Given the description of an element on the screen output the (x, y) to click on. 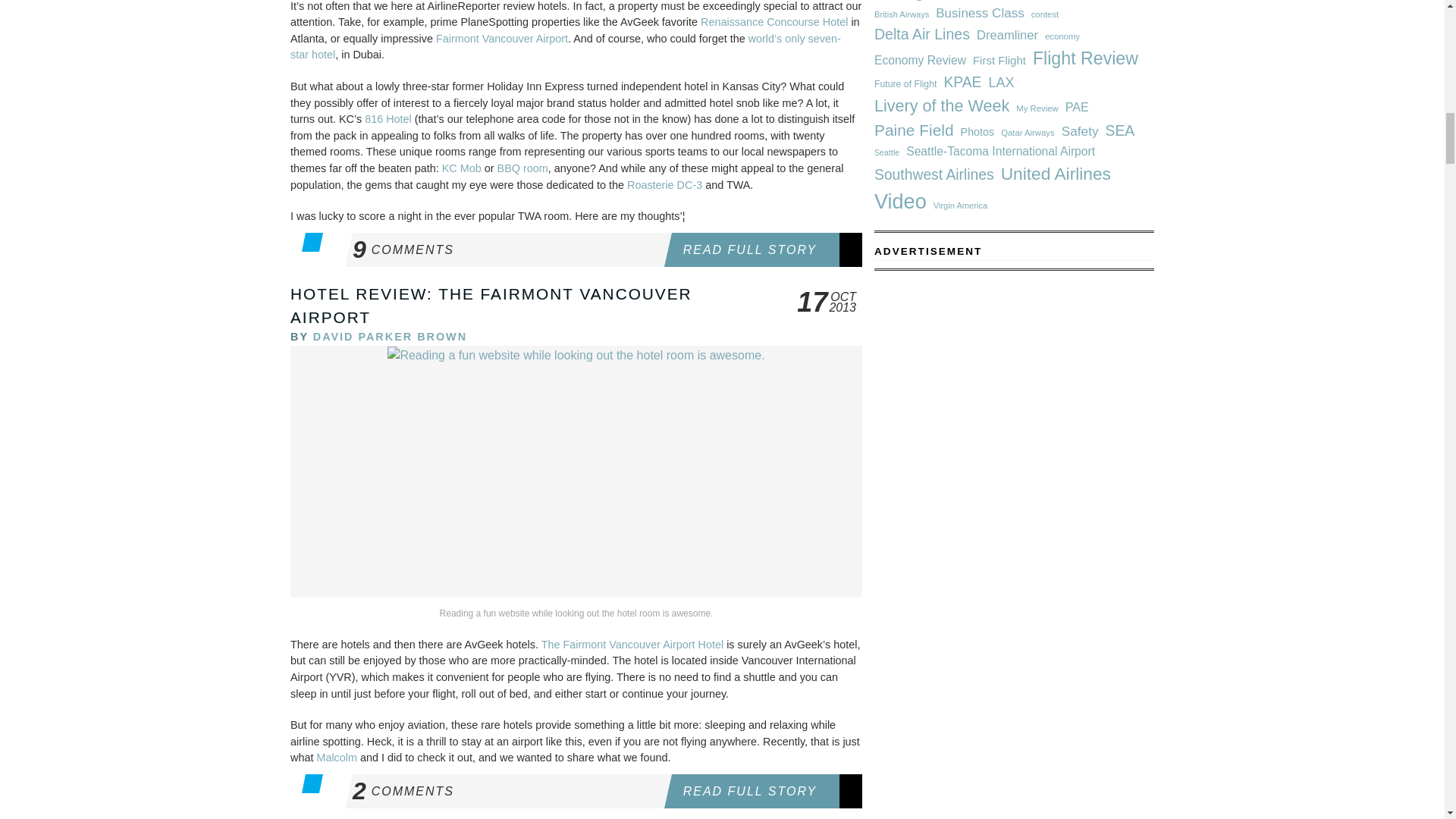
READ FULL STORY (766, 249)
Posts by David Parker Brown (390, 336)
BBQ room (522, 168)
Fairmont Vancouver Airport (501, 38)
DAVID PARKER BROWN (390, 336)
Roasterie DC-3 (664, 184)
816 Hotel (388, 119)
Hotel Review: The Fairmont Vancouver Airport (491, 305)
Renaissance Concourse Hotel (773, 21)
KC Mob (461, 168)
The Fairmont Vancouver Airport Hotel (632, 644)
HOTEL REVIEW: THE FAIRMONT VANCOUVER AIRPORT (507, 249)
